Given the description of an element on the screen output the (x, y) to click on. 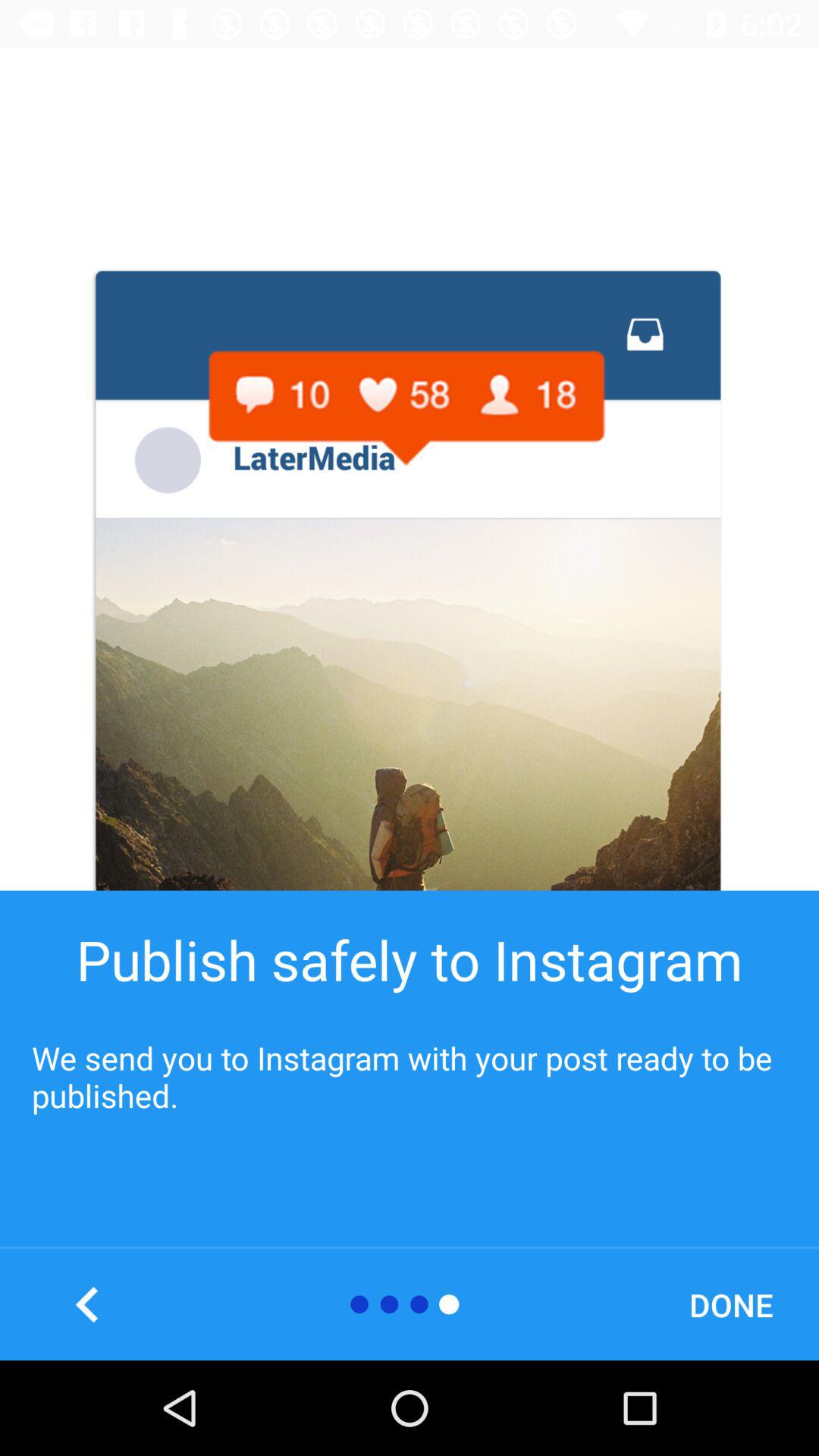
go back (87, 1304)
